Given the description of an element on the screen output the (x, y) to click on. 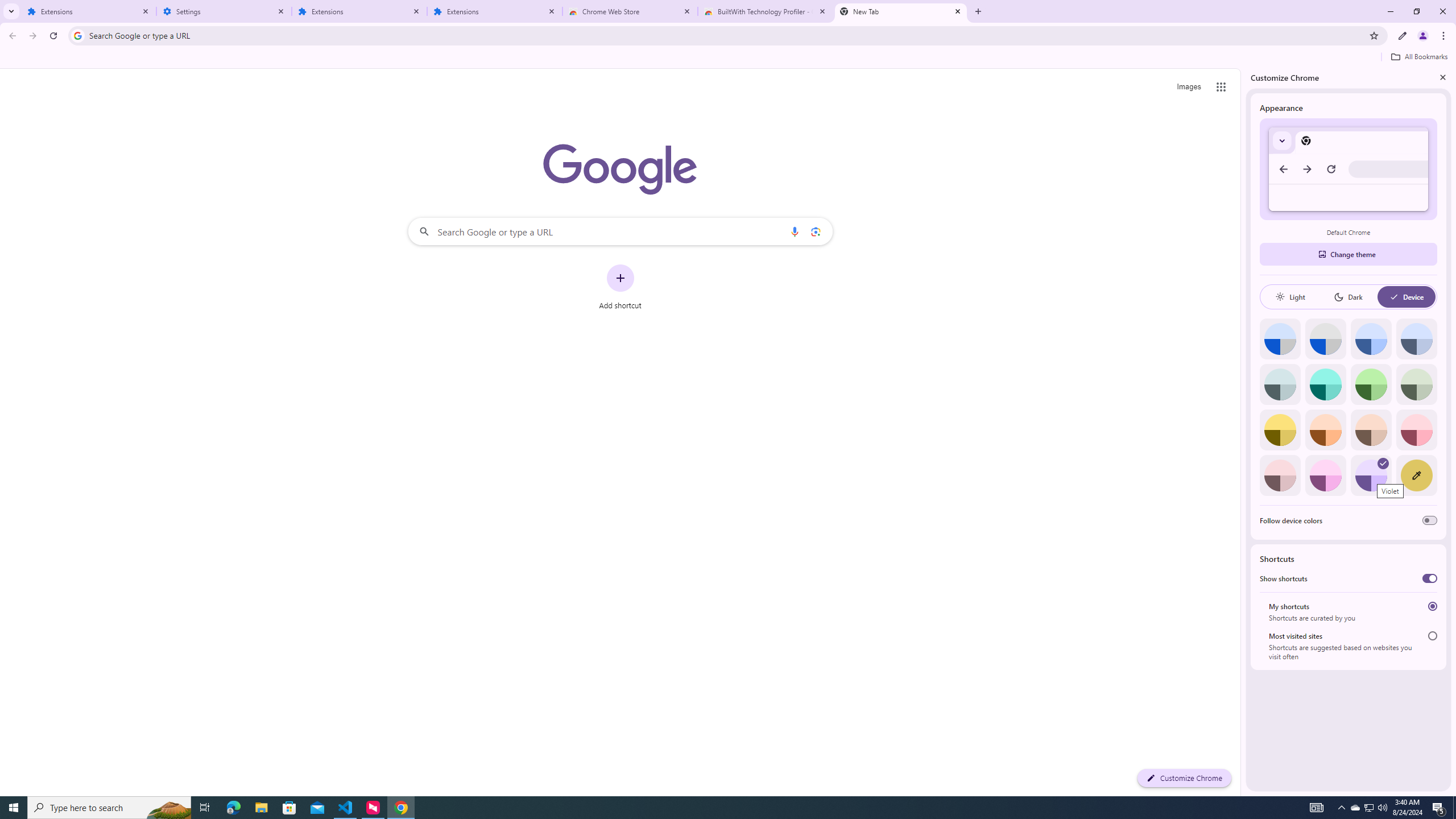
Rose (1416, 429)
